Given the description of an element on the screen output the (x, y) to click on. 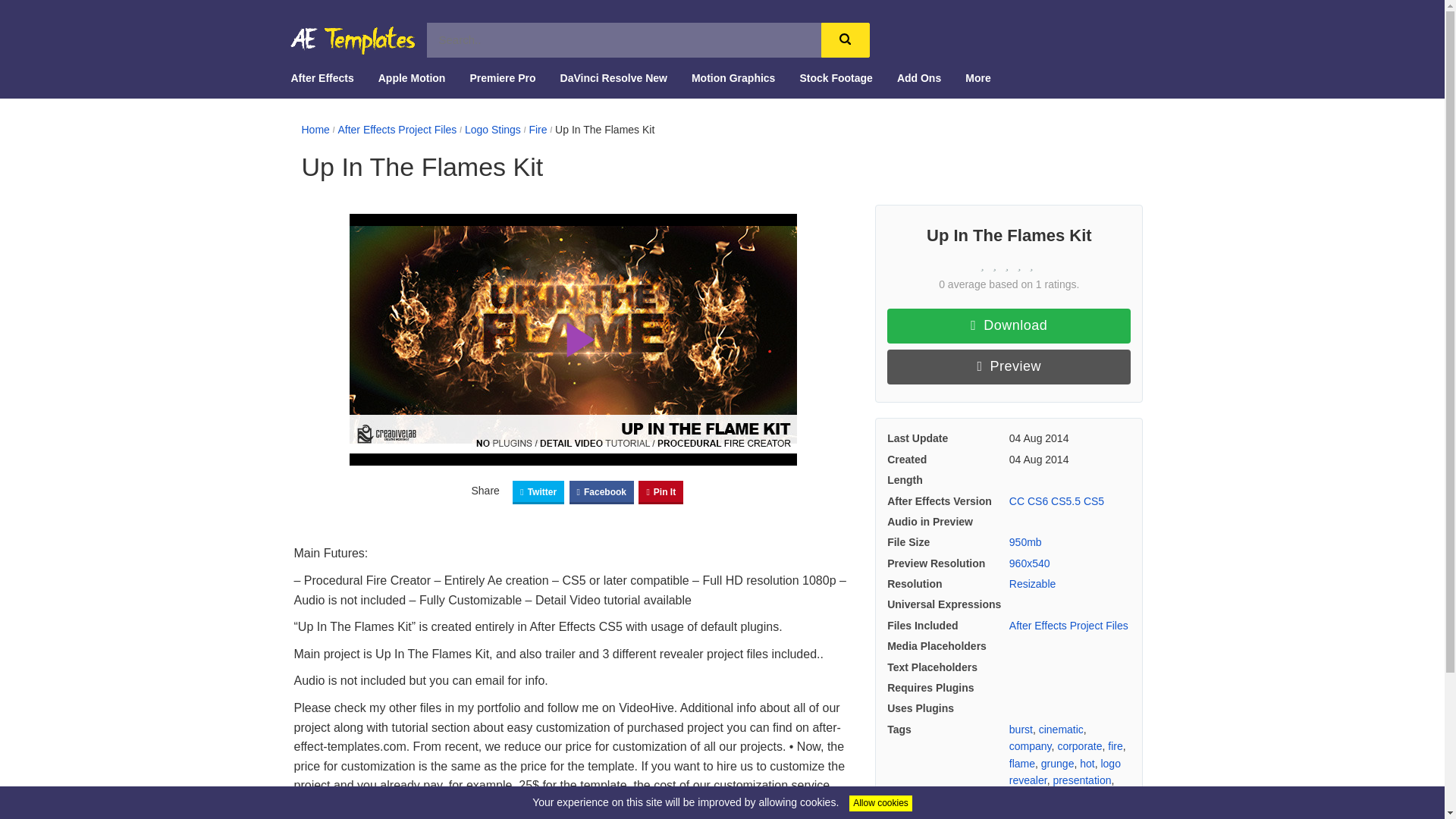
Motion Graphics (732, 77)
After Effects (321, 77)
Play Video (573, 339)
Premiere Pro (501, 77)
DaVinci Resolve New (613, 77)
Apple Motion (411, 77)
